Given the description of an element on the screen output the (x, y) to click on. 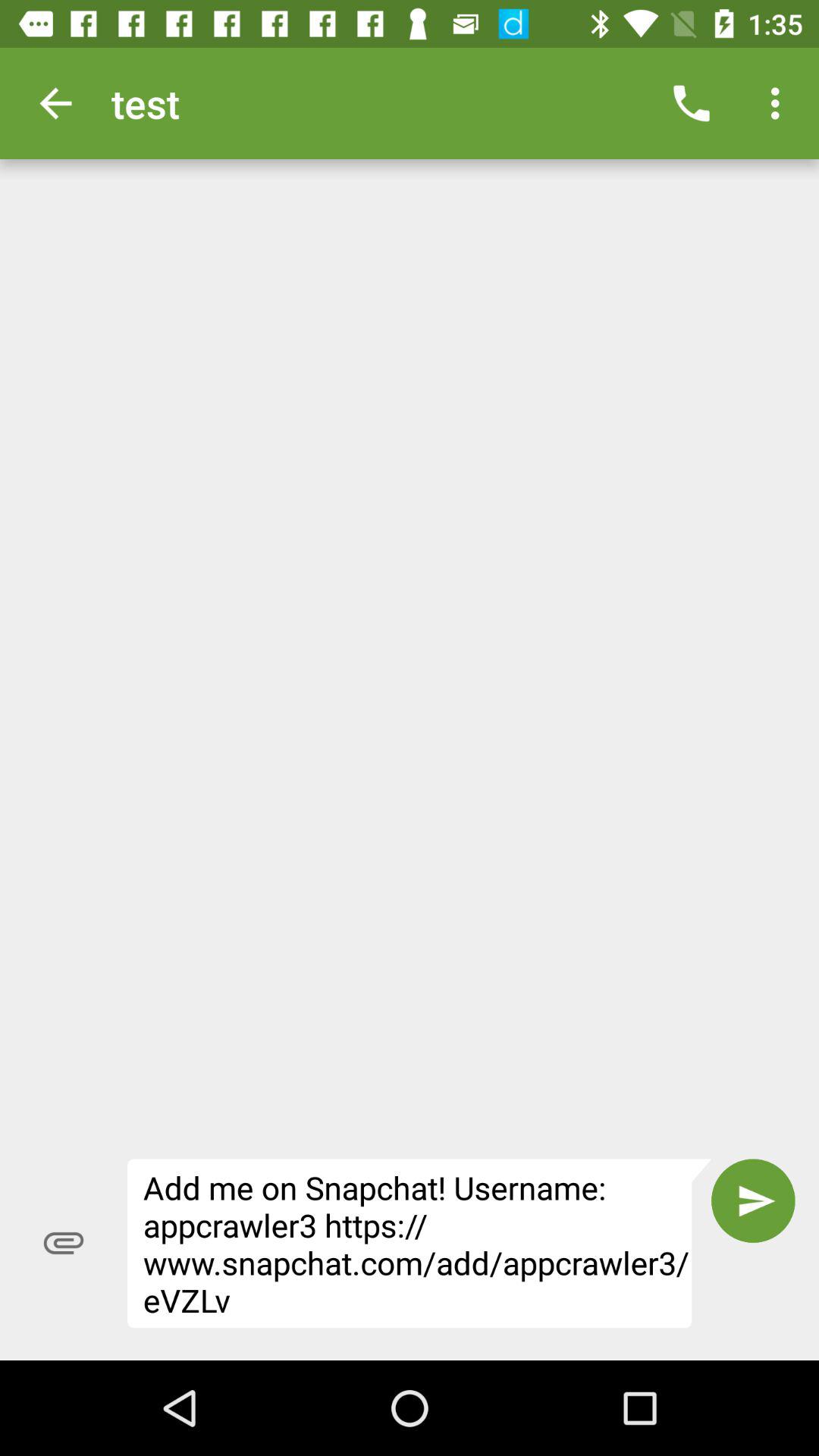
jump until the add me on (419, 1243)
